Given the description of an element on the screen output the (x, y) to click on. 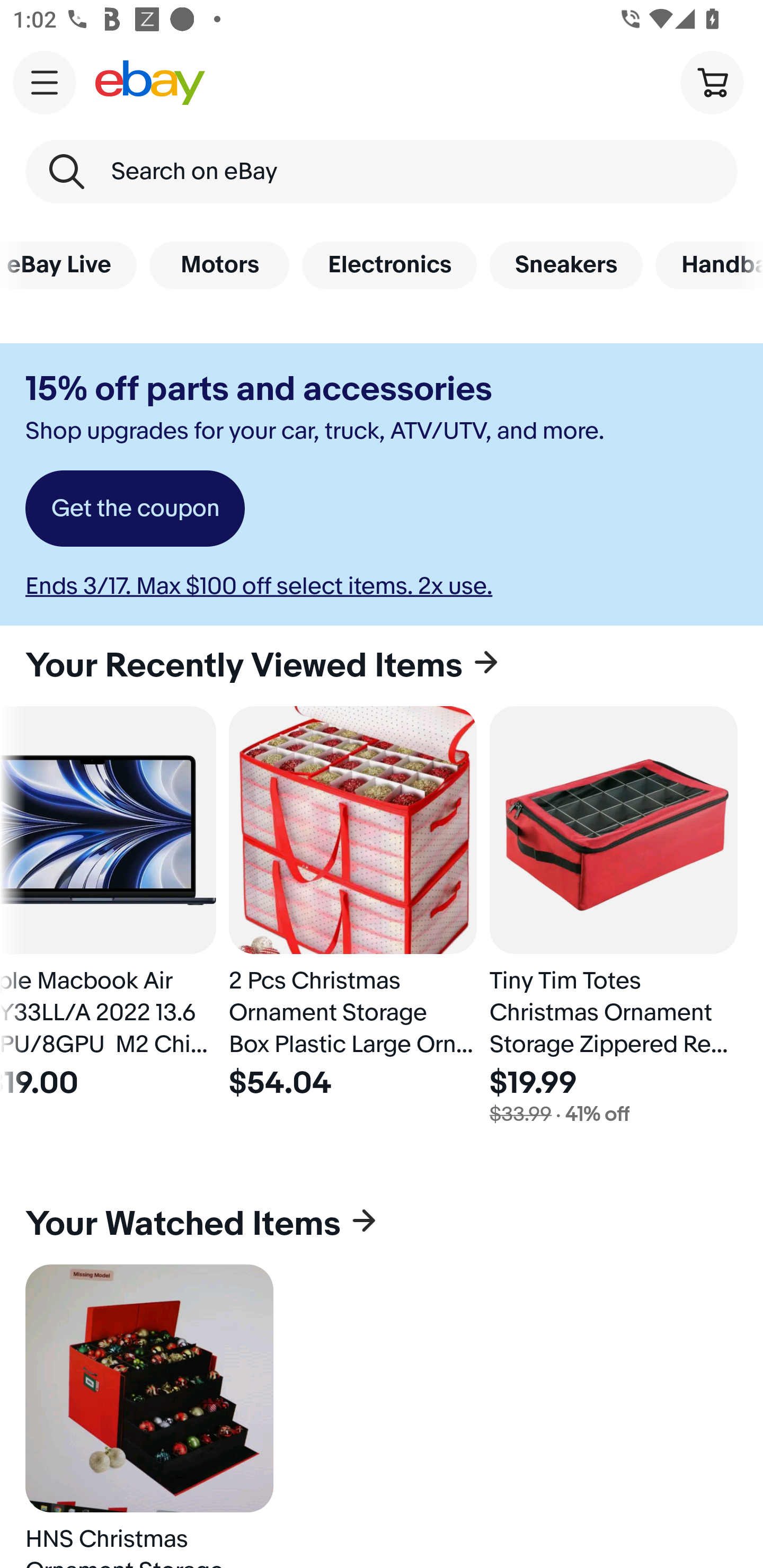
Main navigation, open (44, 82)
Cart button shopping cart (711, 81)
Search on eBay Search Keyword Search on eBay (381, 171)
eBay Live (68, 264)
Motors (219, 264)
Electronics (389, 264)
Sneakers (565, 264)
15% off parts and accessories (258, 389)
Get the coupon (134, 508)
Ends 3/17. Max $100 off select items. 2x use. (258, 586)
Your Recently Viewed Items   (381, 665)
Your Watched Items   (381, 1223)
